Given the description of an element on the screen output the (x, y) to click on. 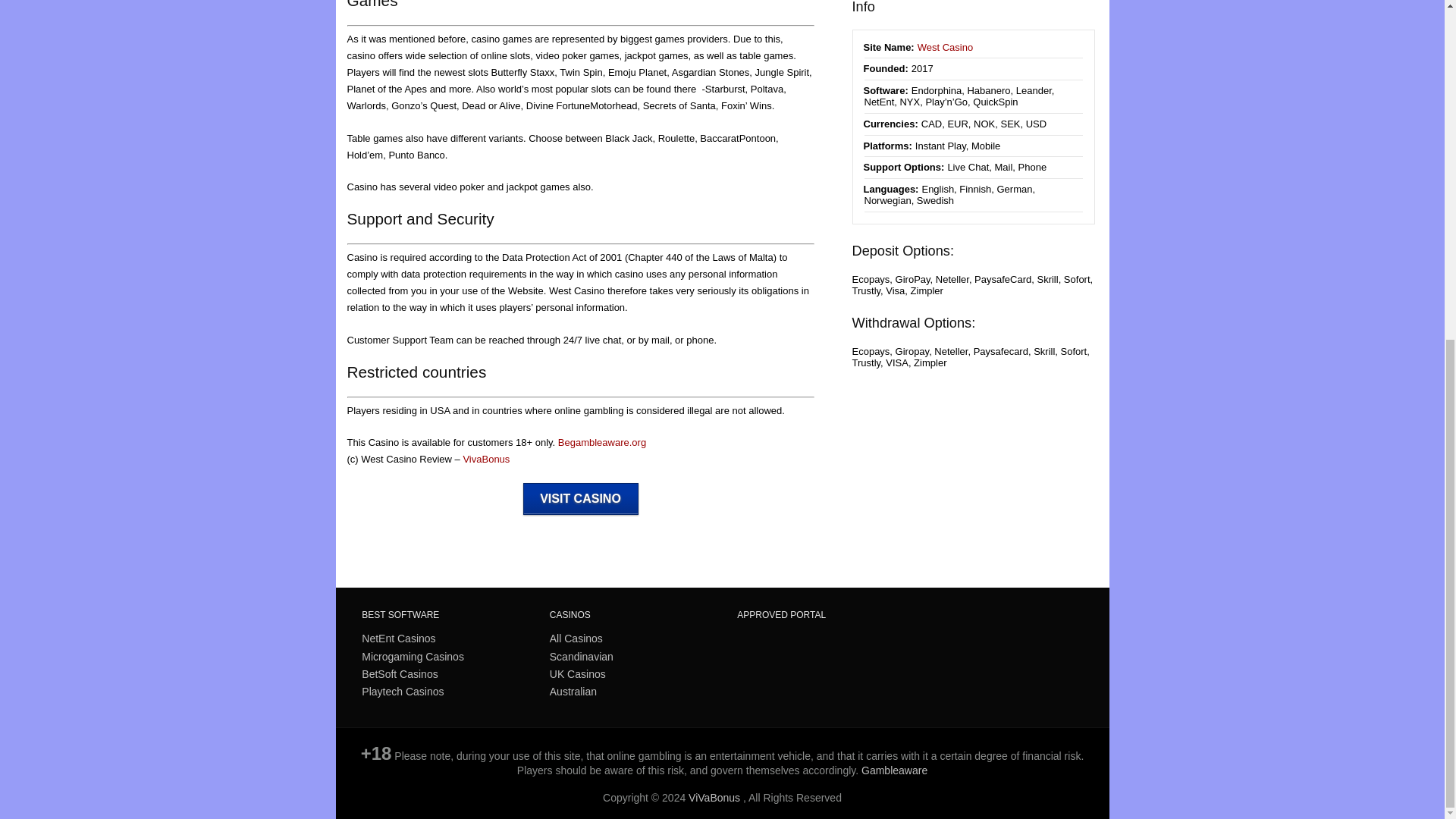
Scandinavian (581, 656)
BetSoft Casinos (399, 673)
GPWA (788, 668)
VivaBonus (486, 459)
Playtech Casinos (402, 691)
Begambleaware.org (601, 441)
VISIT CASINO (580, 499)
UK Casinos (577, 673)
Microgaming Casinos (412, 656)
NetEnt Casinos (398, 638)
